Given the description of an element on the screen output the (x, y) to click on. 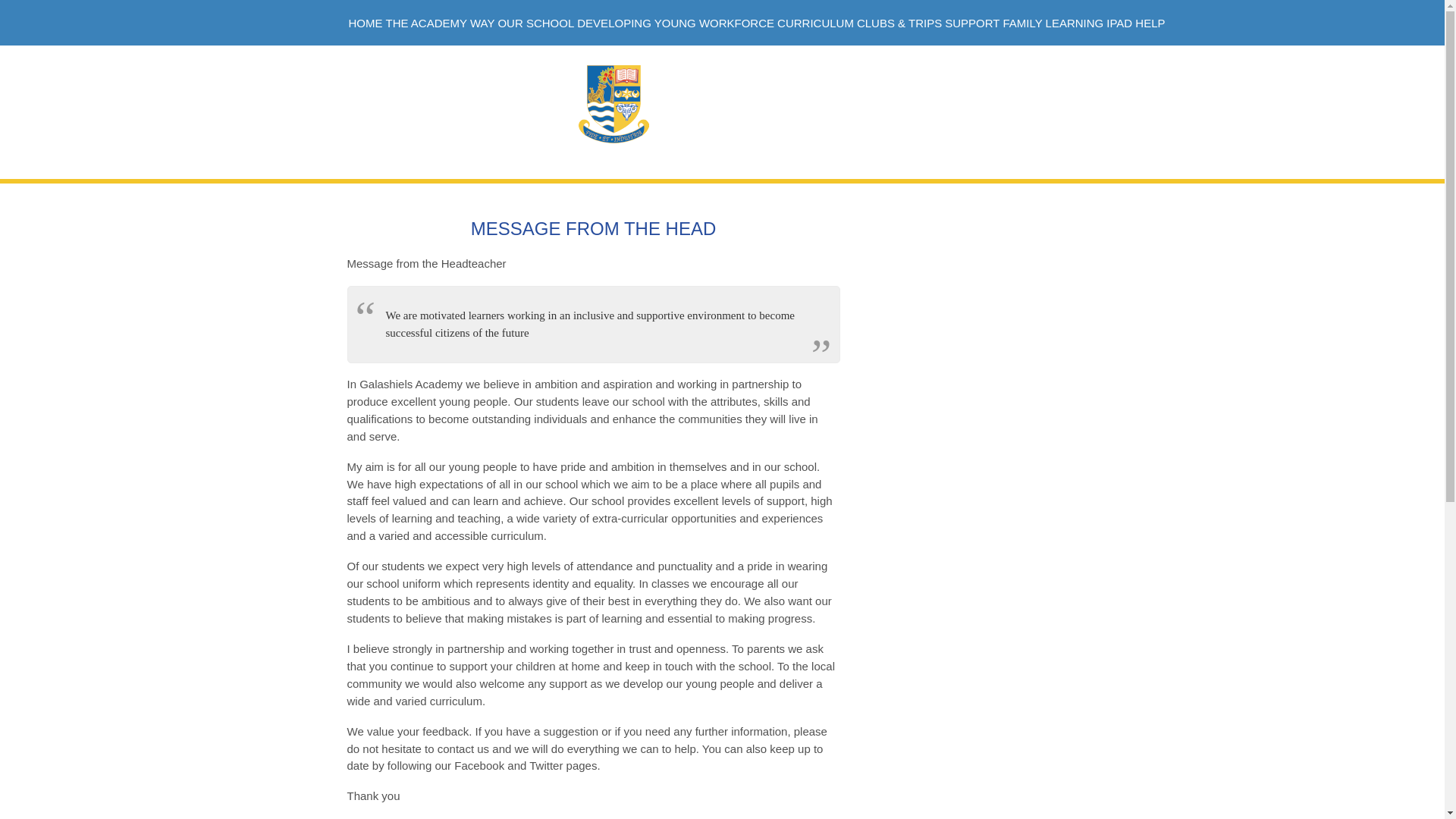
CURRICULUM (815, 23)
HOME (364, 23)
DEVELOPING YOUNG WORKFORCE (675, 23)
OUR SCHOOL (535, 23)
Search (1063, 72)
THE ACADEMY WAY (440, 23)
